Given the description of an element on the screen output the (x, y) to click on. 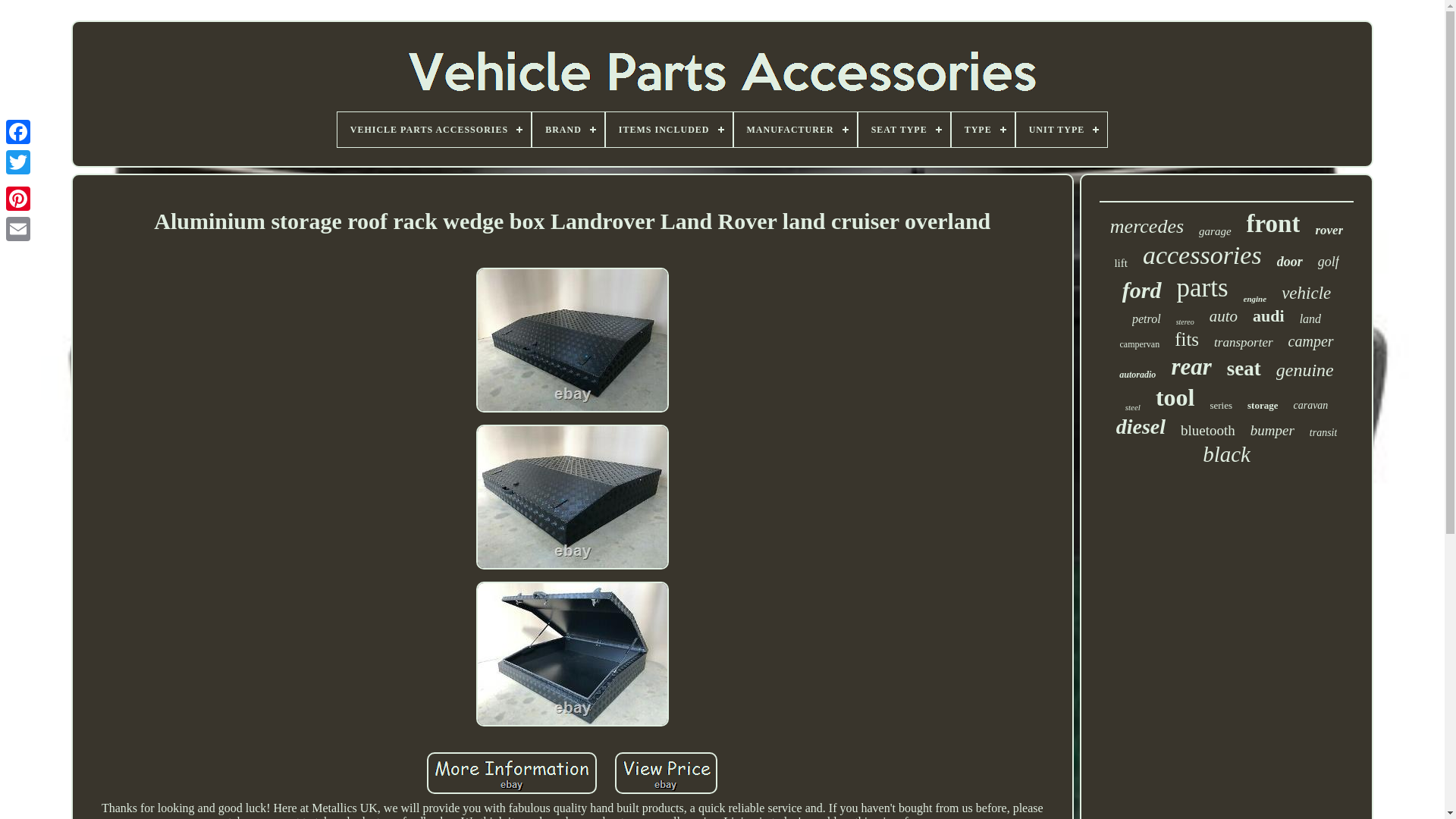
Email (17, 228)
ITEMS INCLUDED (668, 129)
MANUFACTURER (795, 129)
VEHICLE PARTS ACCESSORIES (434, 129)
BRAND (568, 129)
